Given the description of an element on the screen output the (x, y) to click on. 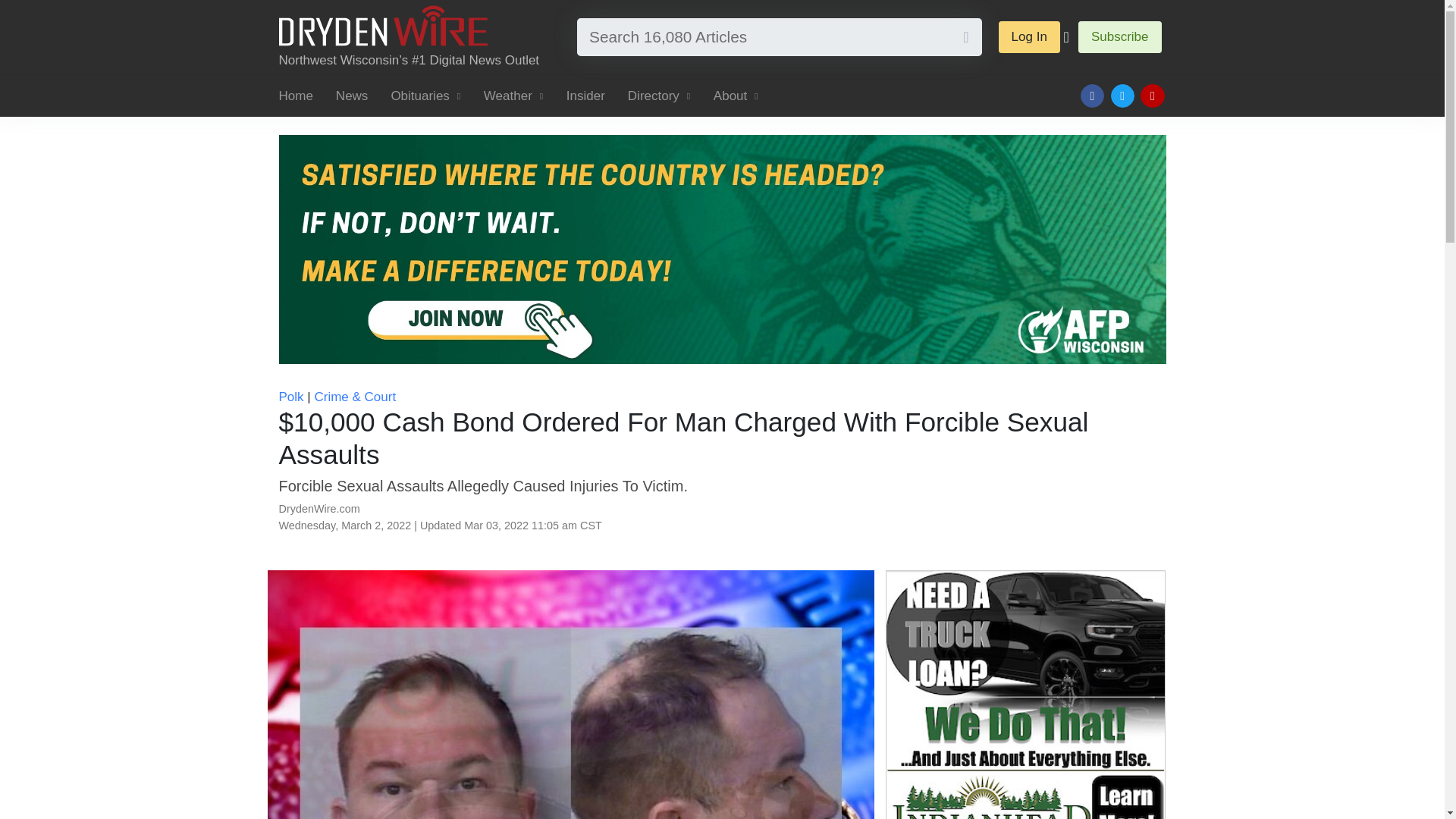
Join AFP-WI and make a difference! (722, 248)
Home (301, 96)
Weather (512, 96)
News (352, 96)
Subscribe (1119, 37)
Need A Loan? We Do That Here At ICU! (1025, 694)
Log In (1028, 37)
Insider (584, 96)
Directory (658, 96)
Obituaries (424, 96)
About (735, 96)
